Given the description of an element on the screen output the (x, y) to click on. 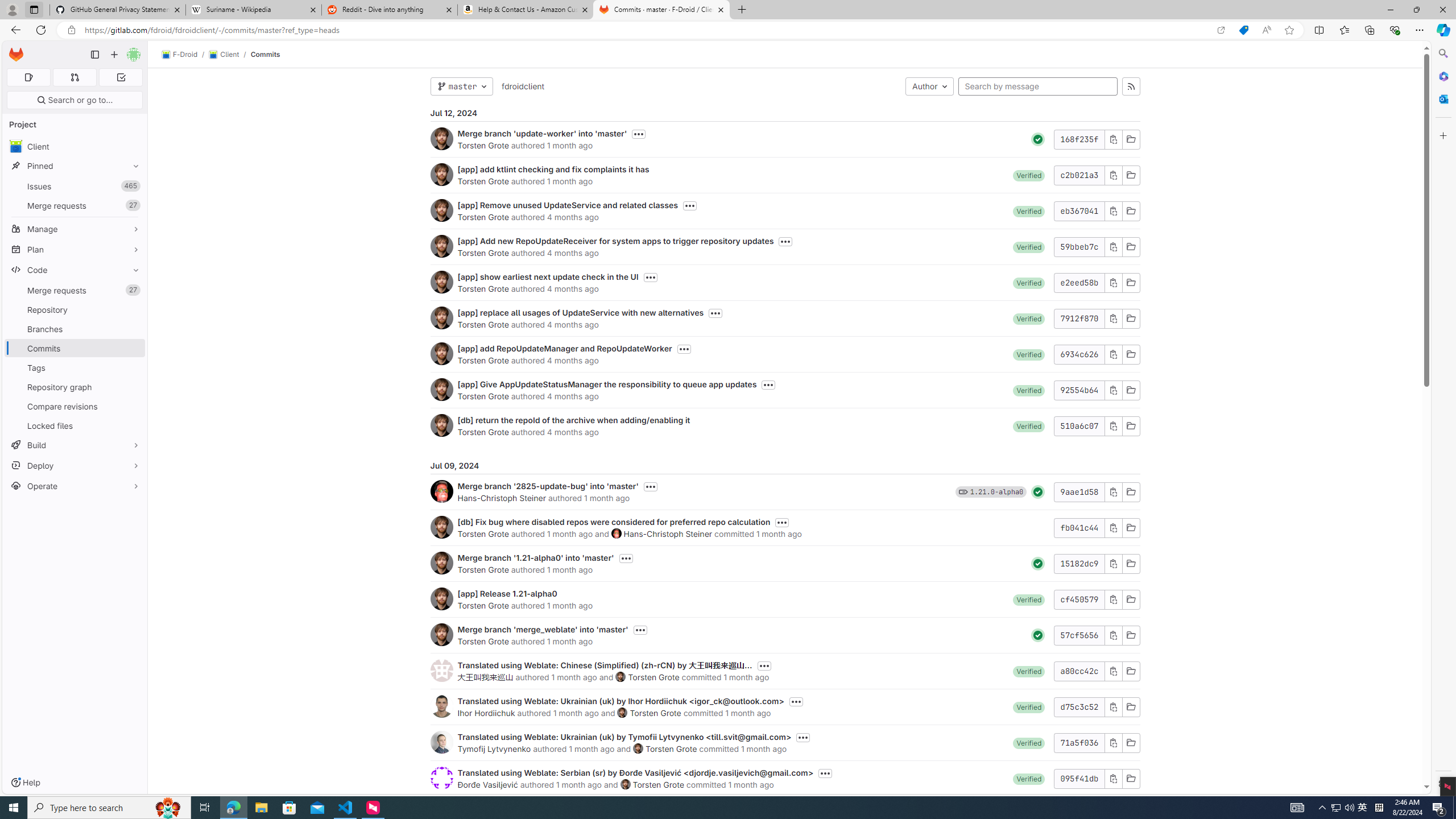
F-Droid (179, 54)
Open in app (1220, 29)
Build (74, 444)
[app] Remove unused UpdateService and related classes (567, 204)
Tymofij Lytvynenko's avatar (440, 741)
Pin Repository graph (132, 386)
Issues 465 (74, 185)
Jul 09, 2024 (784, 465)
Close tab (720, 9)
Minimize (1390, 9)
